Given the description of an element on the screen output the (x, y) to click on. 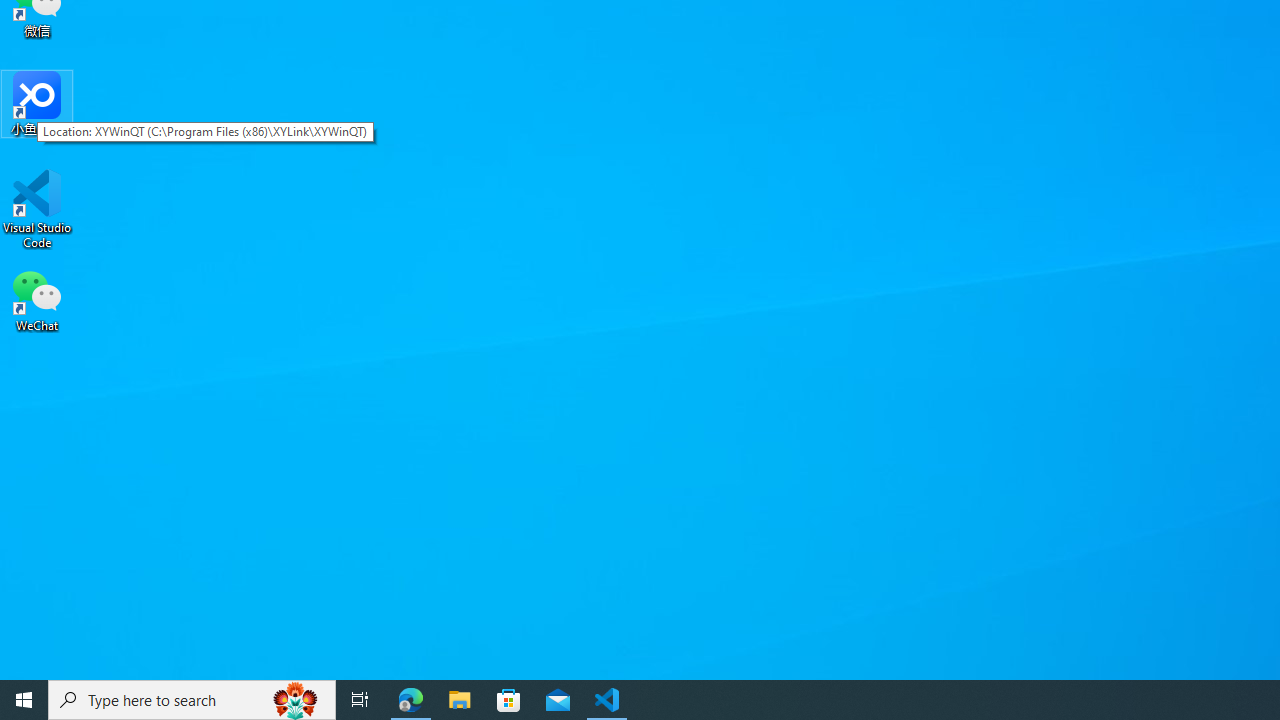
Task View (359, 699)
WeChat (37, 299)
Microsoft Store (509, 699)
Microsoft Edge - 1 running window (411, 699)
Type here to search (191, 699)
Visual Studio Code (37, 209)
Visual Studio Code - 1 running window (607, 699)
Start (24, 699)
File Explorer (460, 699)
Search highlights icon opens search home window (295, 699)
